Given the description of an element on the screen output the (x, y) to click on. 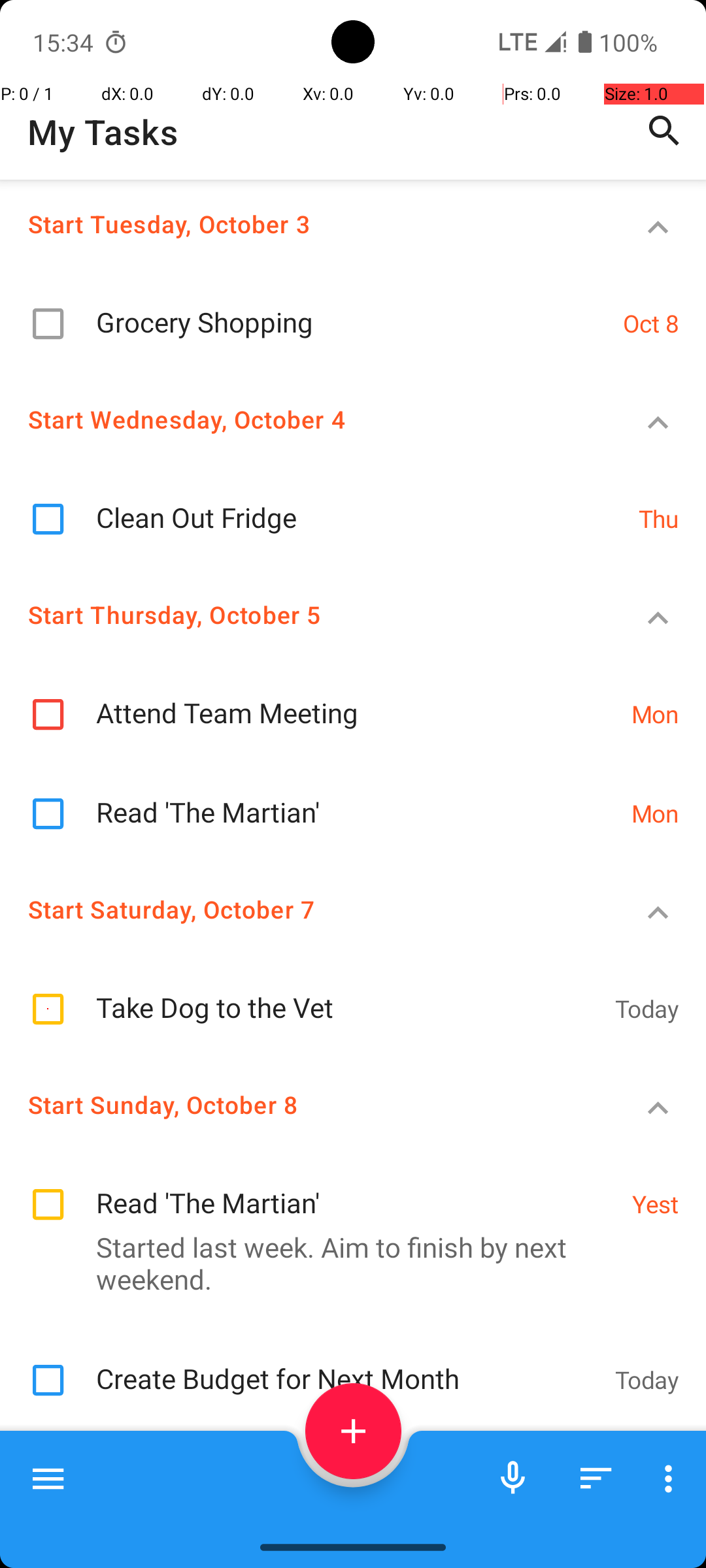
Start Tuesday, October 3 Element type: android.widget.TextView (304, 223)
Start Wednesday, October 4 Element type: android.widget.TextView (304, 419)
Start Thursday, October 5 Element type: android.widget.TextView (304, 614)
Start Saturday, October 7 Element type: android.widget.TextView (304, 909)
Start Sunday, October 8 Element type: android.widget.TextView (304, 1104)
Start Monday Element type: android.widget.TextView (304, 1475)
